Given the description of an element on the screen output the (x, y) to click on. 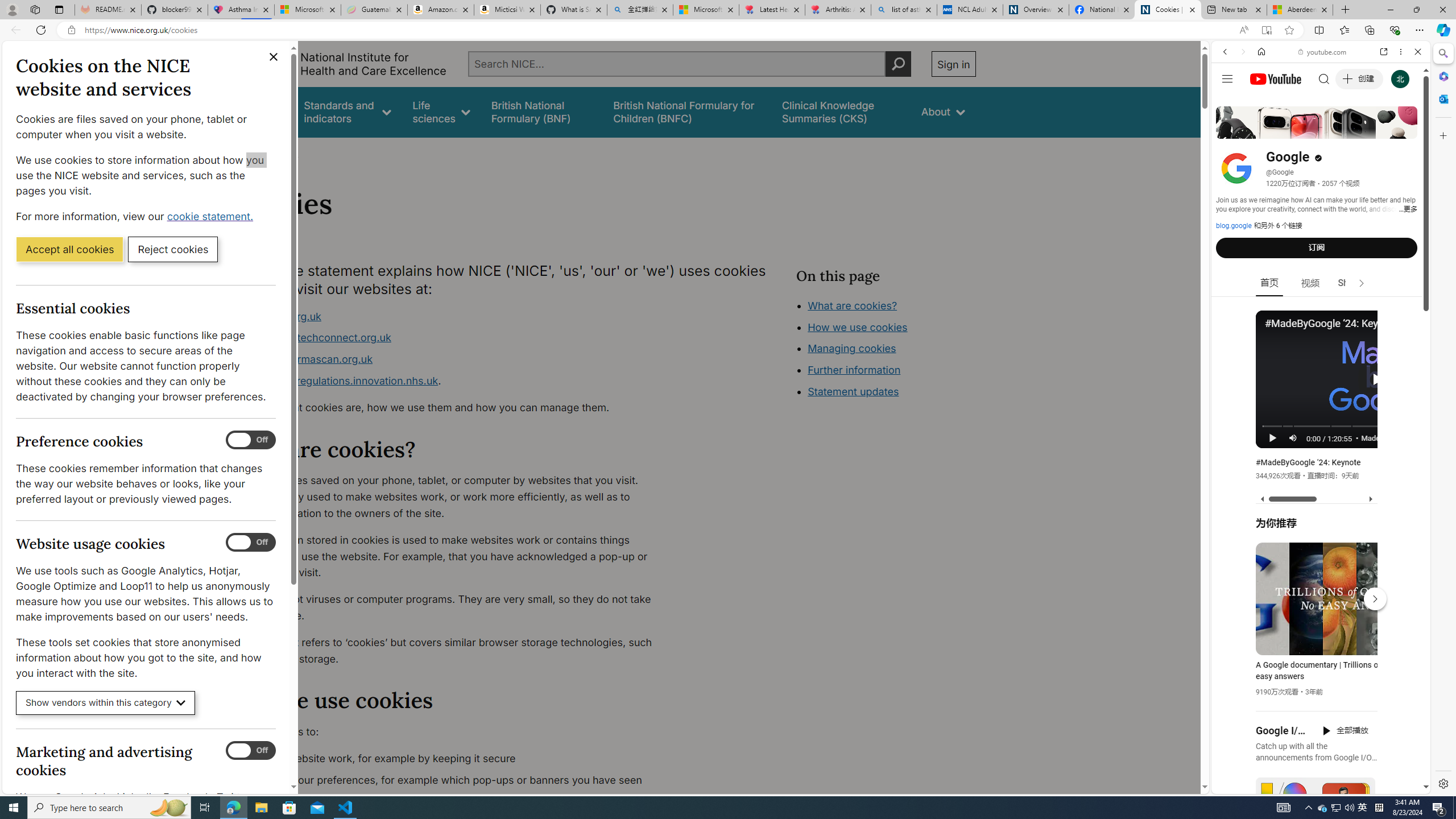
Forward (1242, 51)
Global web icon (1232, 655)
Aberdeen, Hong Kong SAR hourly forecast | Microsoft Weather (1300, 9)
Class: b_serphb (1404, 130)
youtube.com (1322, 51)
Asthma Inhalers: Names and Types (240, 9)
Microsoft-Report a Concern to Bing (307, 9)
Website usage cookies (250, 542)
Marketing and advertising cookies (250, 750)
